Given the description of an element on the screen output the (x, y) to click on. 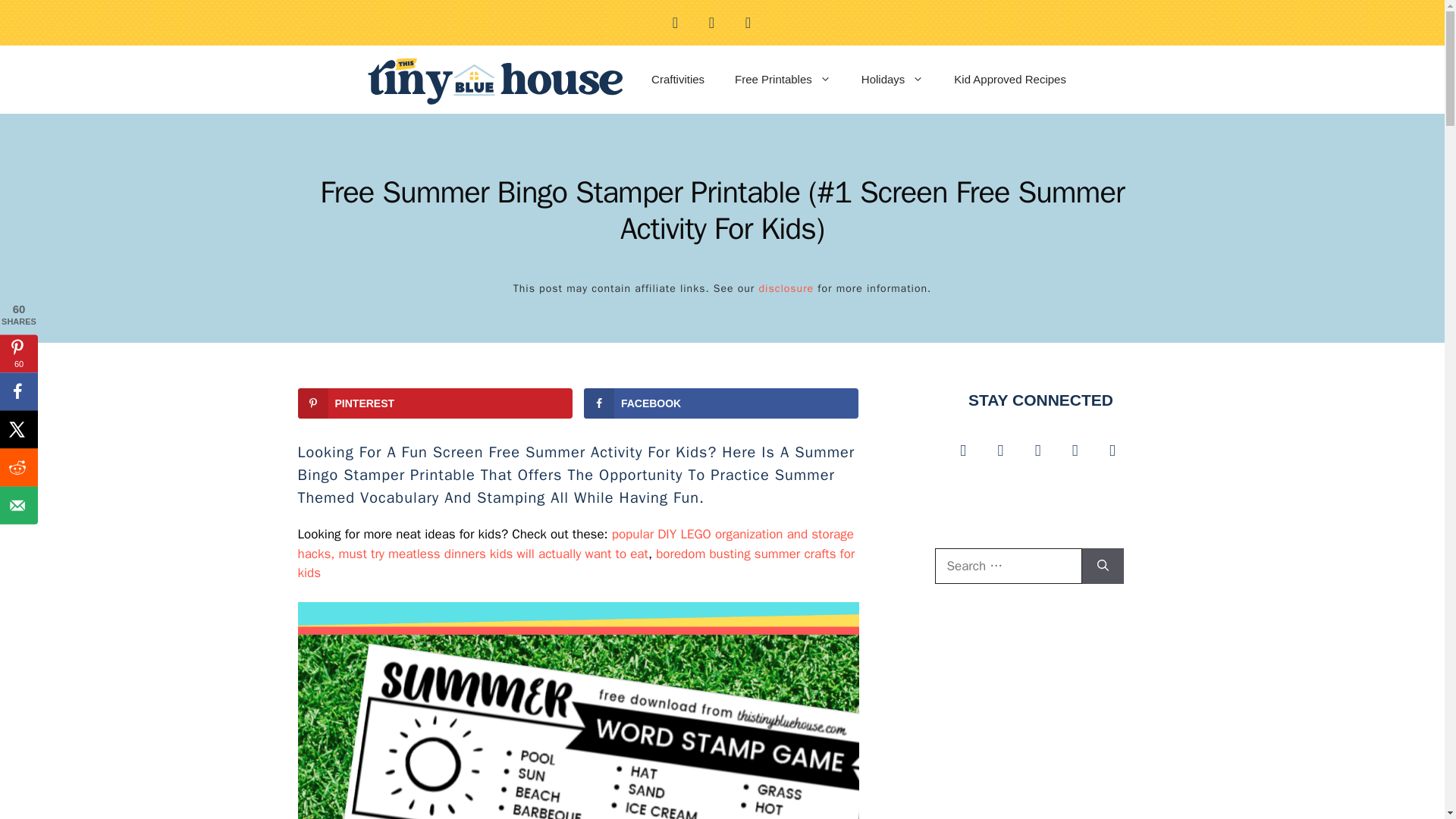
Facebook (710, 22)
This Tiny Blue House (495, 79)
Instagram (674, 22)
Free Printables (782, 79)
Save to Pinterest (434, 403)
Craftivities (677, 79)
Share on Facebook (721, 403)
Pinterest (747, 22)
